Given the description of an element on the screen output the (x, y) to click on. 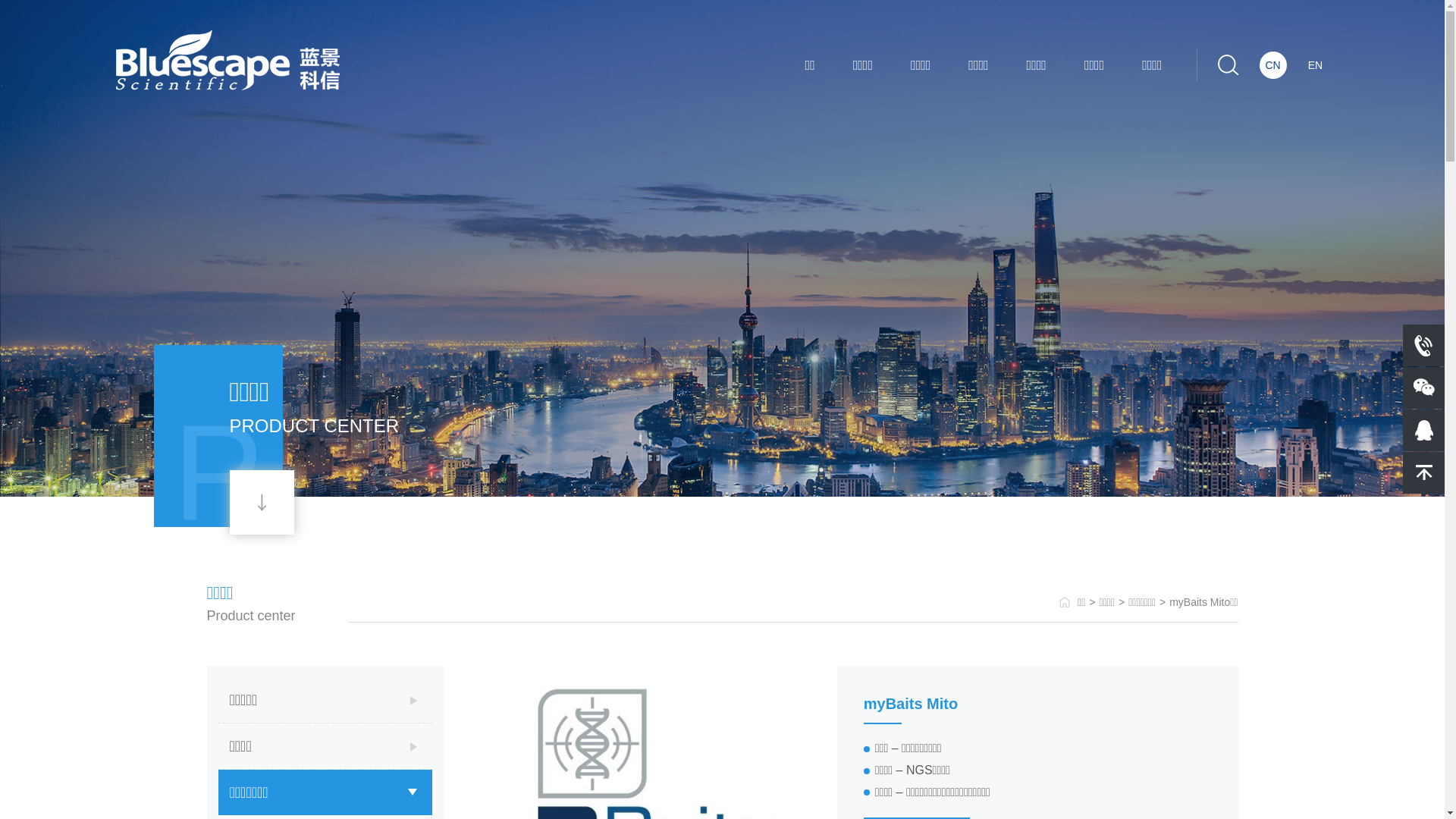
CN Element type: text (1272, 64)
EN Element type: text (1314, 64)
